Given the description of an element on the screen output the (x, y) to click on. 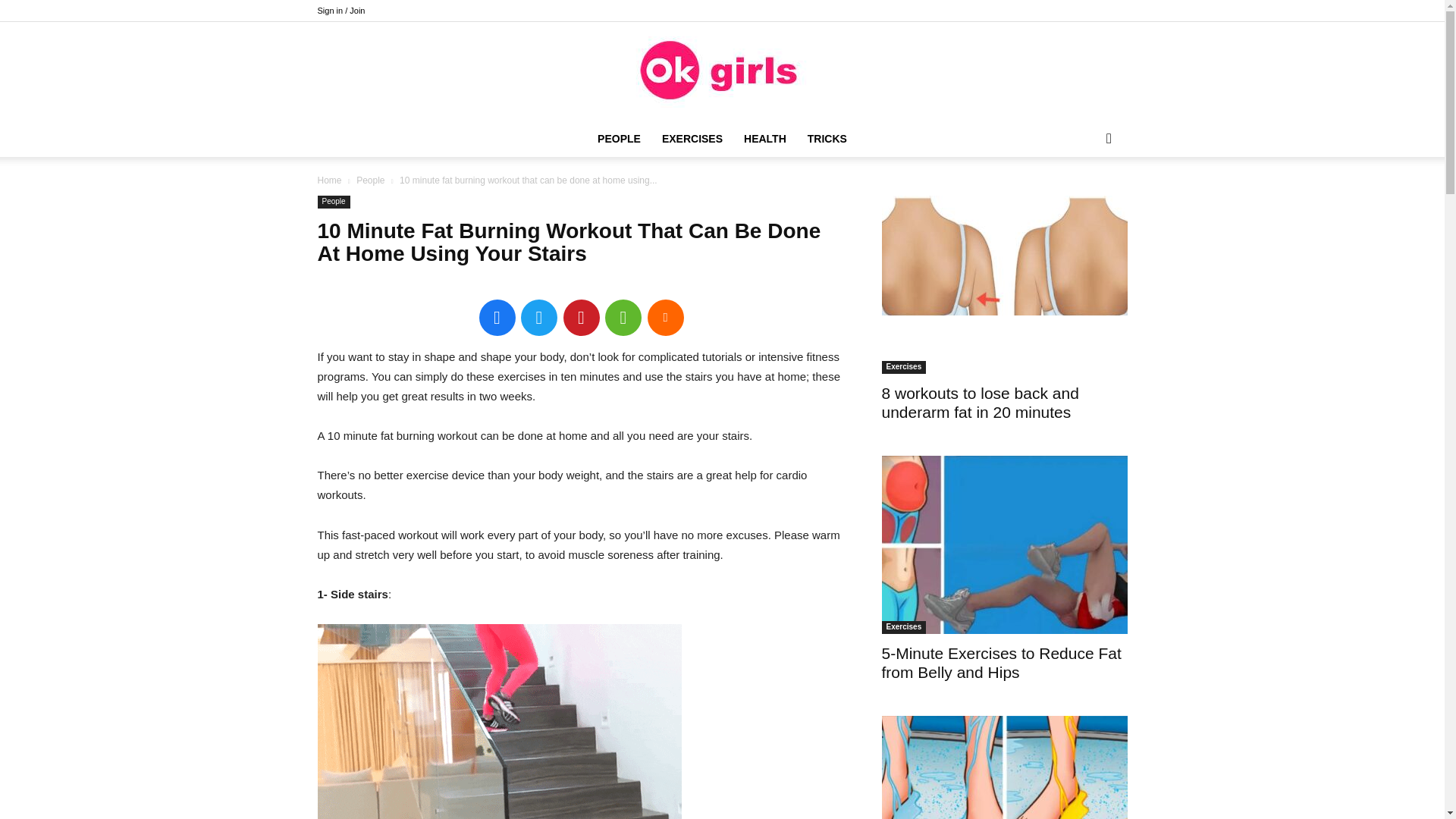
PEOPLE (618, 138)
EXERCISES (691, 138)
View all posts in People (370, 180)
Share this on Facebook (497, 317)
People (370, 180)
Home (328, 180)
HEALTH (764, 138)
People (333, 201)
Tweet this ! (539, 317)
TRICKS (826, 138)
Submit this to Pinterest (580, 317)
Search (1085, 199)
WhatsApp (623, 317)
More share links (665, 317)
